Given the description of an element on the screen output the (x, y) to click on. 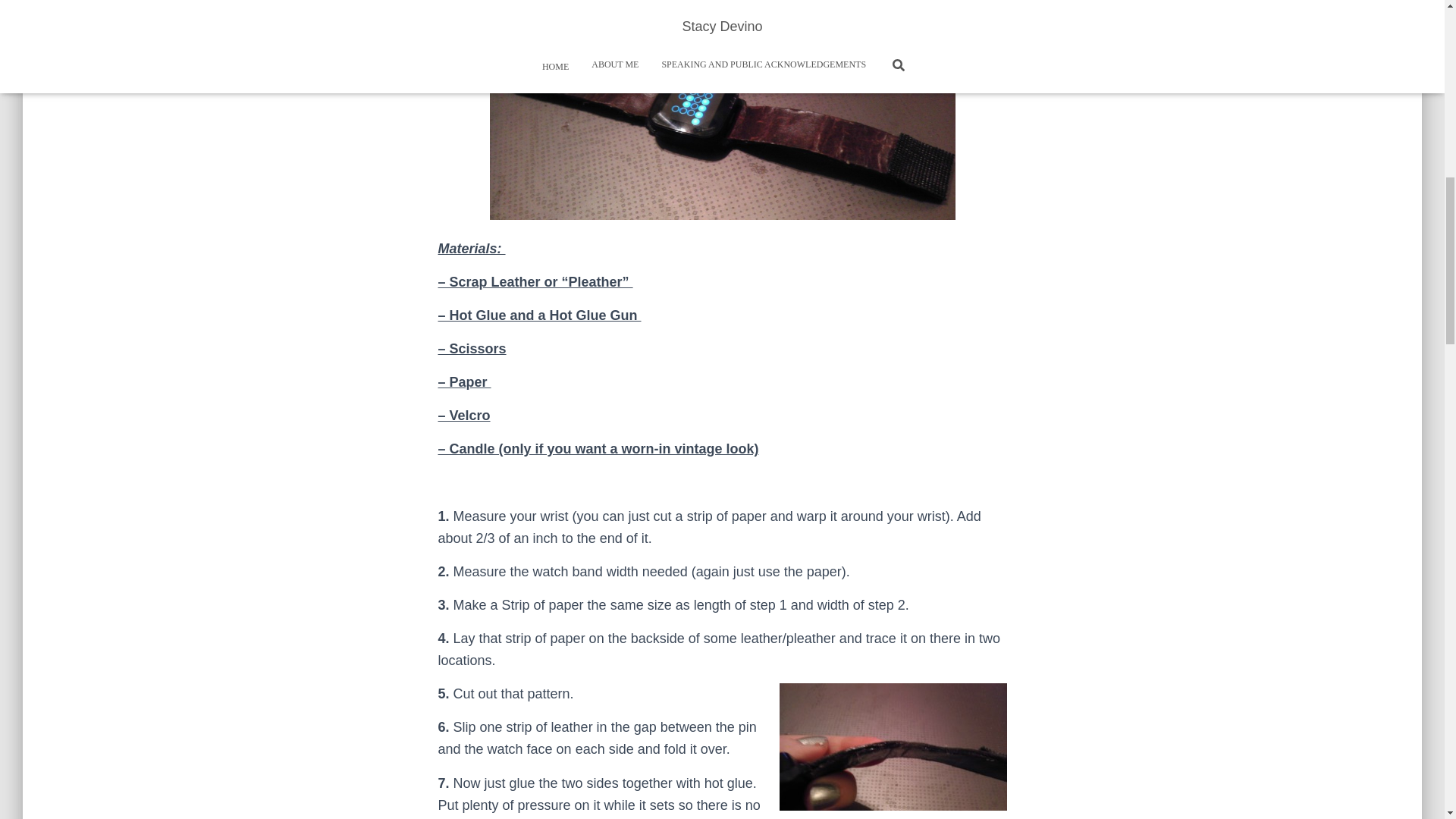
IMAG0452 (722, 125)
IMAG0453 (892, 746)
